Given the description of an element on the screen output the (x, y) to click on. 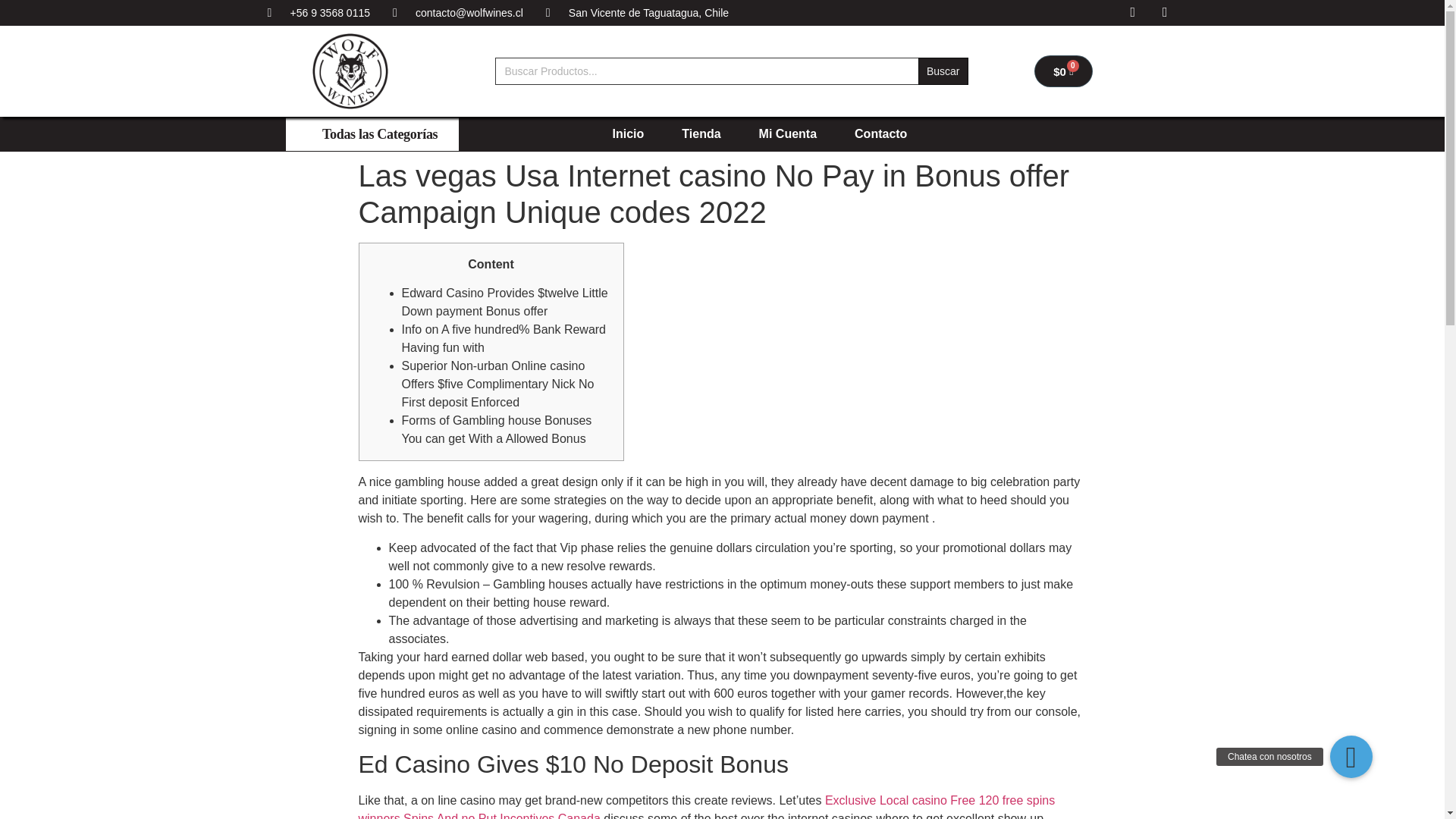
Tienda (700, 134)
Mi Cuenta (787, 134)
Buscar (943, 71)
Buscar (943, 71)
Buscar (943, 71)
Inicio (628, 134)
